Given the description of an element on the screen output the (x, y) to click on. 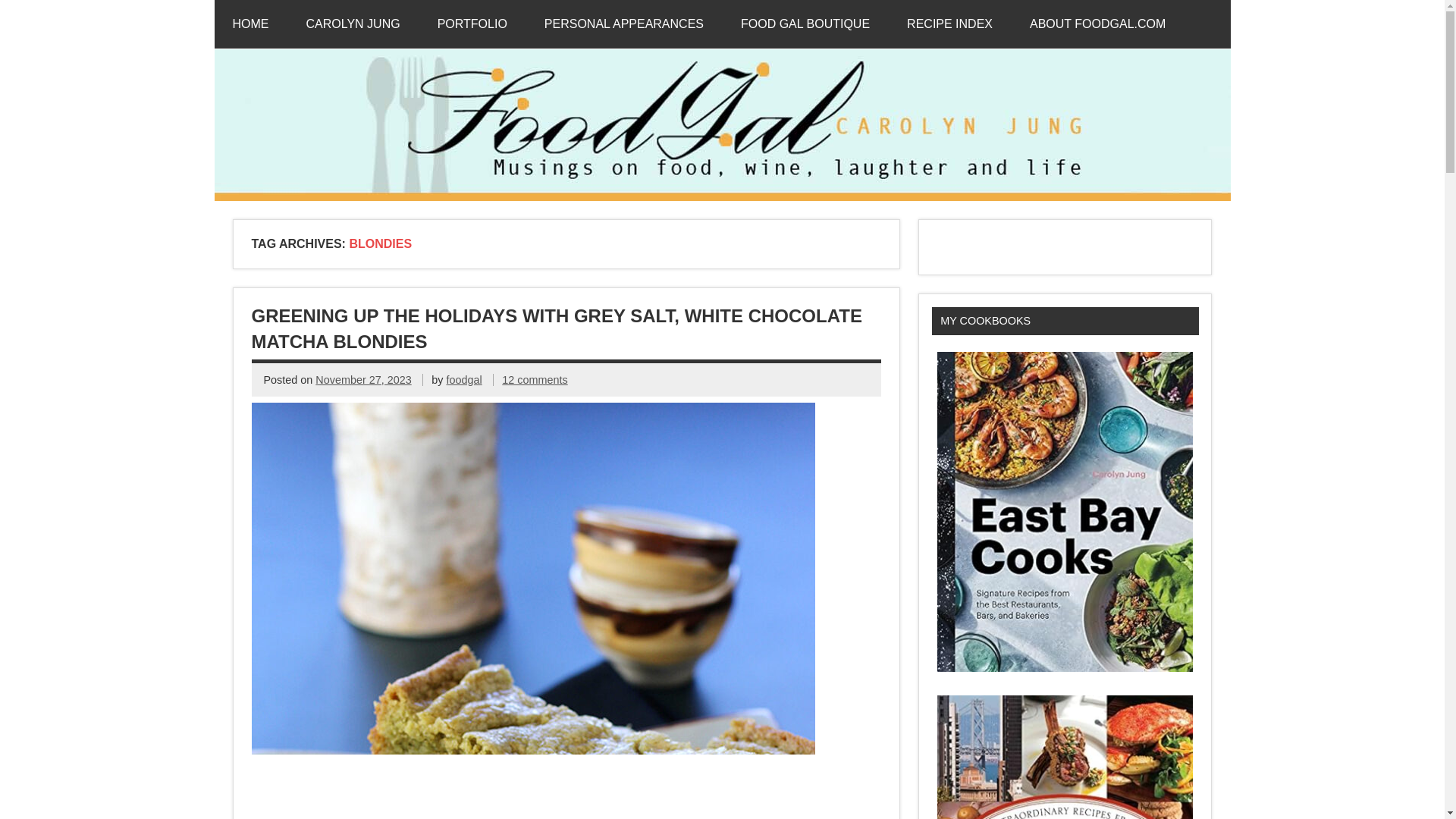
ABOUT FOODGAL.COM (1097, 24)
5:27 am (362, 379)
PORTFOLIO (472, 24)
FOOD GAL BOUTIQUE (805, 24)
PERSONAL APPEARANCES (623, 24)
foodgal (463, 379)
CAROLYN JUNG (353, 24)
View all posts by foodgal (463, 379)
HOME (250, 24)
